Given the description of an element on the screen output the (x, y) to click on. 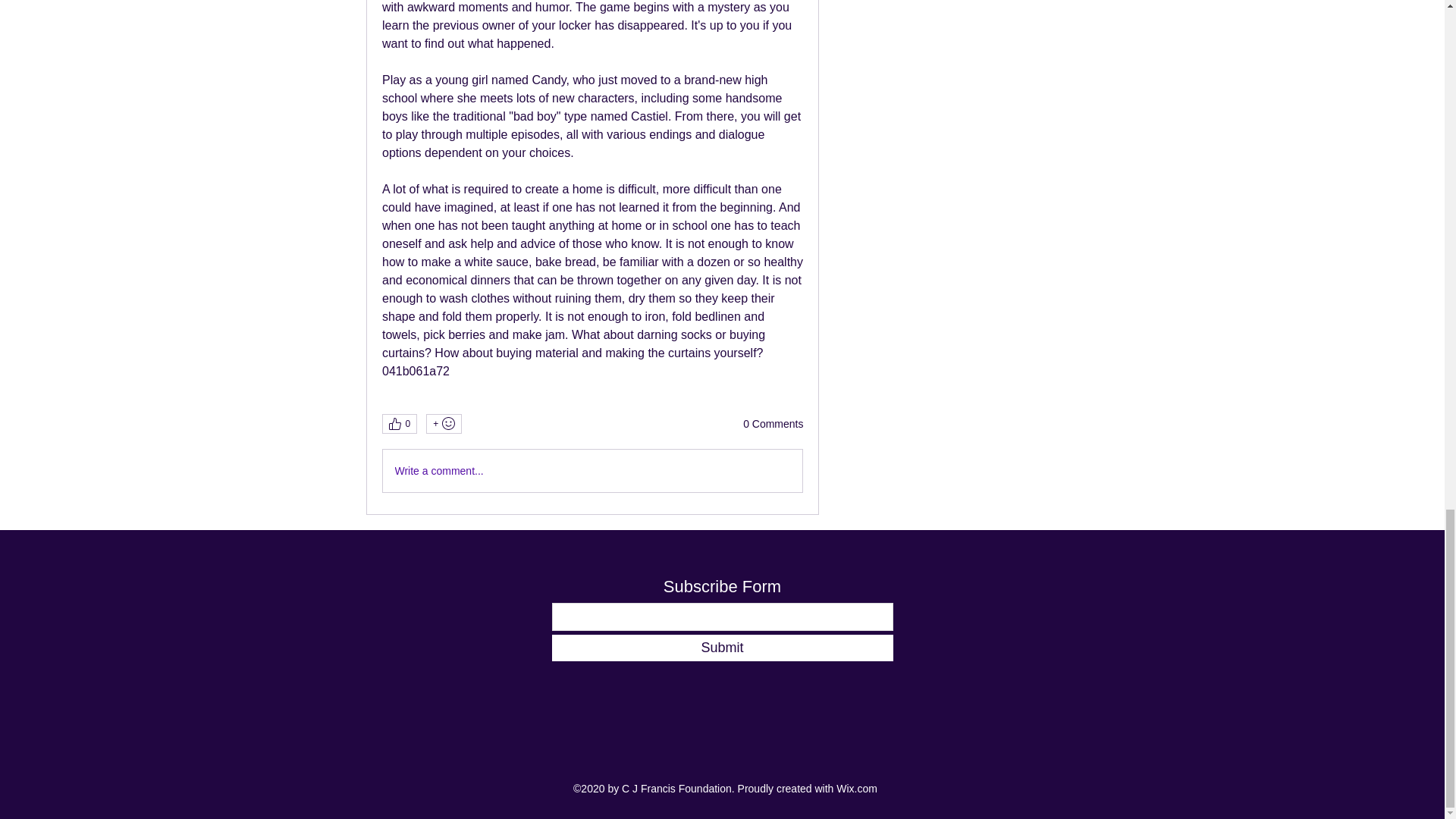
0 Comments (772, 424)
Write a comment... (591, 470)
Submit (722, 647)
